Given the description of an element on the screen output the (x, y) to click on. 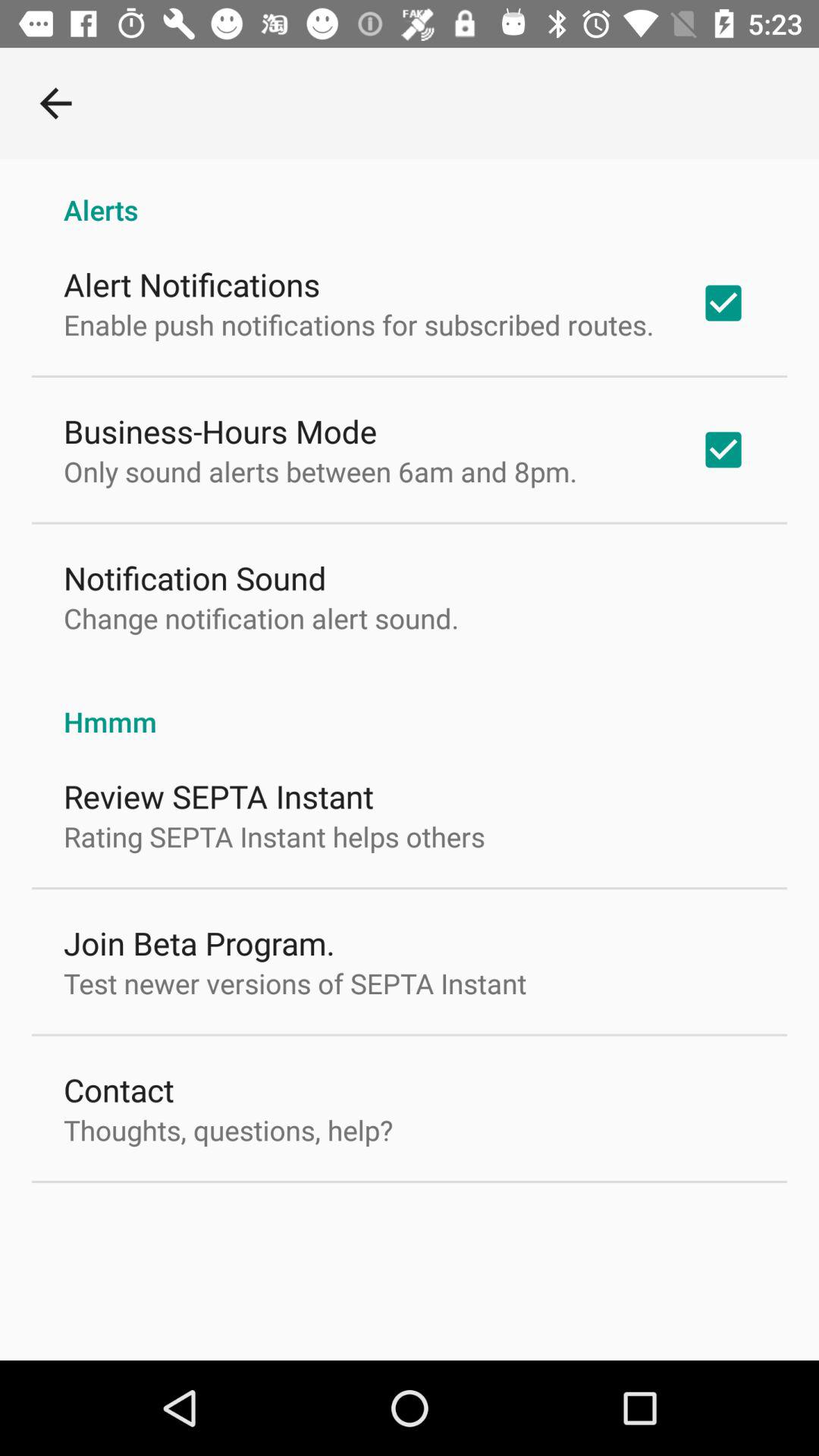
press the item above hmmm (260, 618)
